Given the description of an element on the screen output the (x, y) to click on. 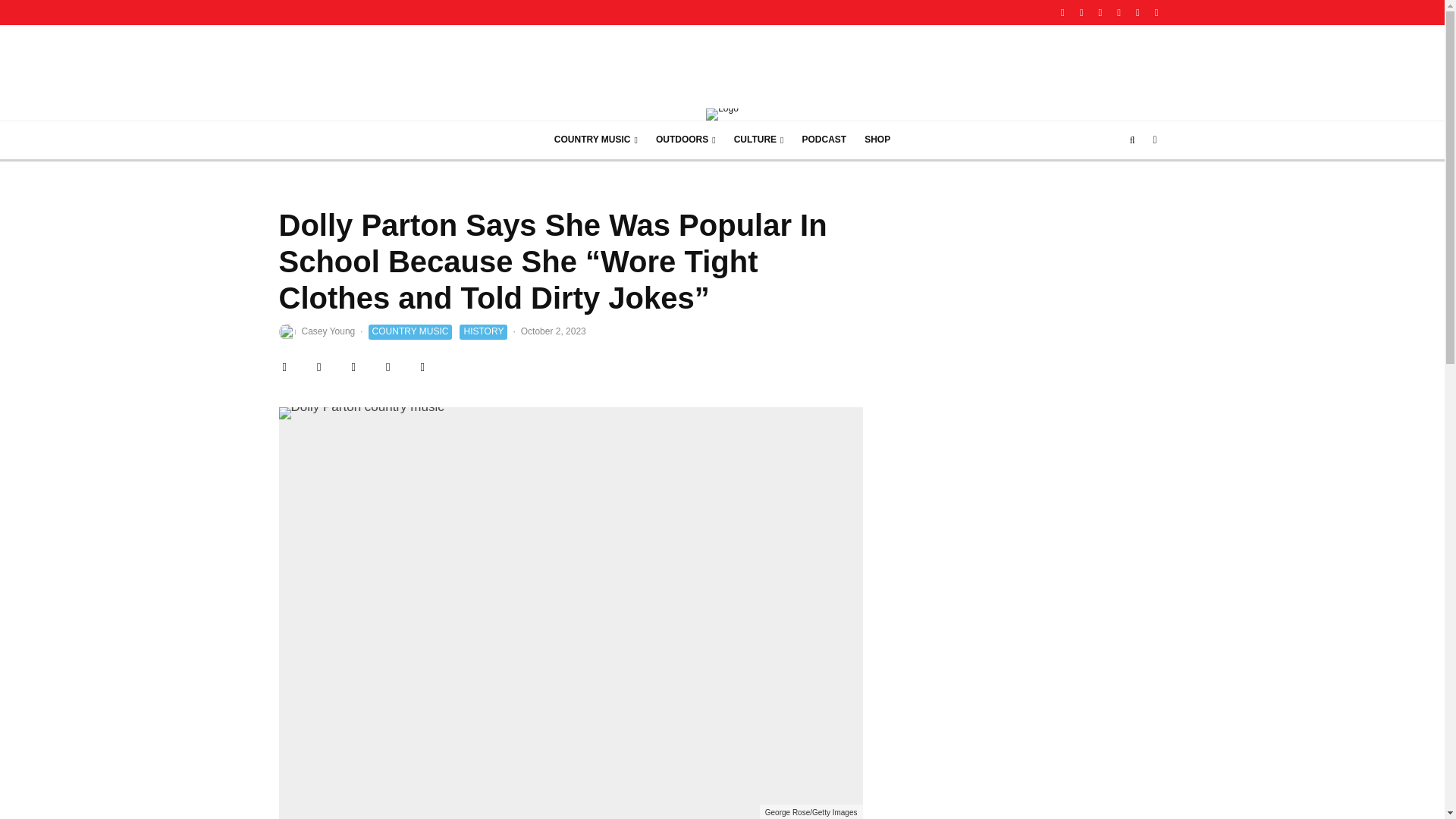
CULTURE (759, 139)
COUNTRY MUSIC (595, 139)
OUTDOORS (685, 139)
